Given the description of an element on the screen output the (x, y) to click on. 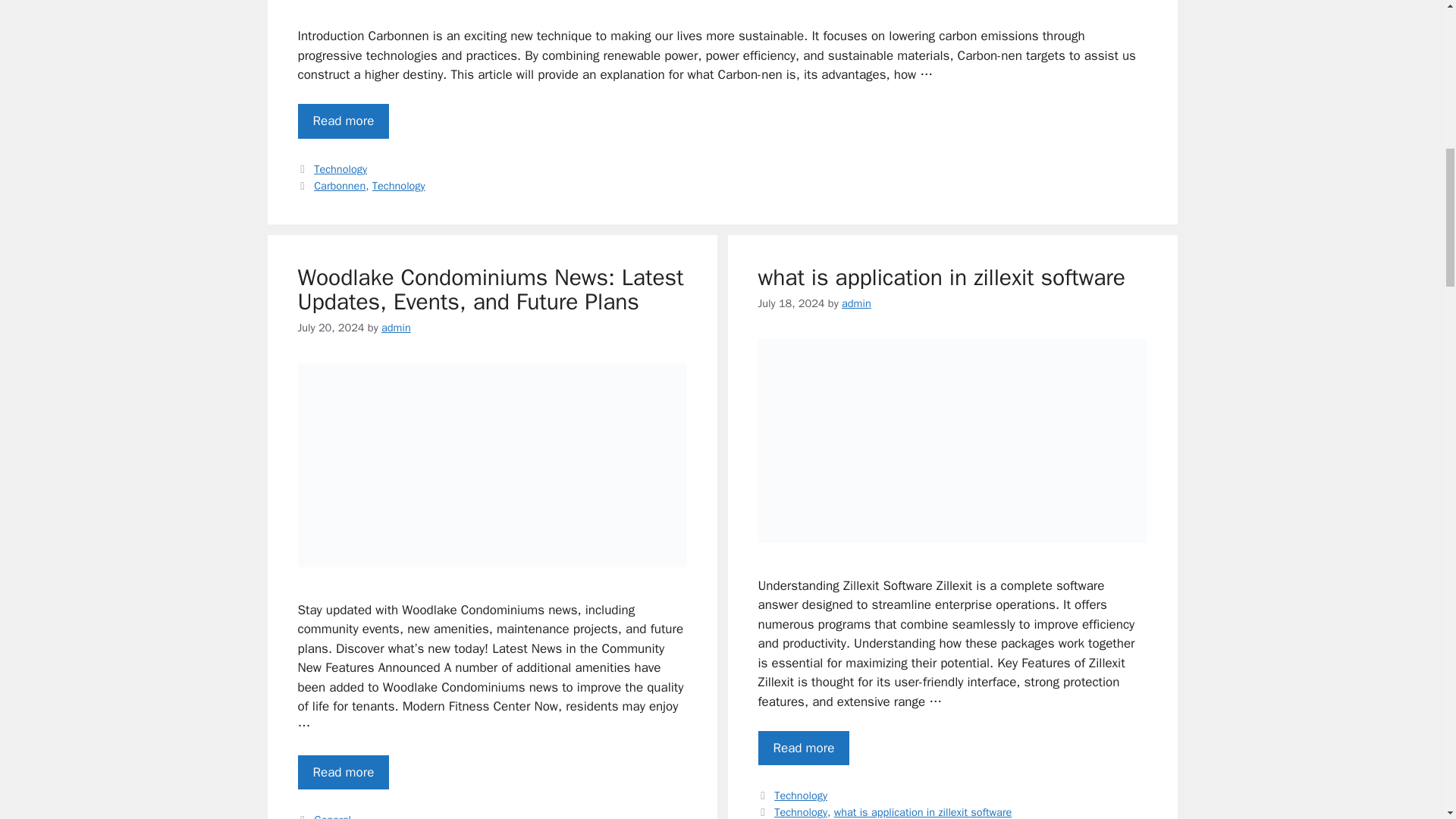
Read more (342, 772)
Read more (342, 121)
Technology (398, 185)
Carbonnen (339, 185)
General (332, 816)
Technology (340, 169)
admin (395, 327)
How to Understand and Use Carbonnen for a Greener Future (342, 121)
View all posts by admin (395, 327)
